Given the description of an element on the screen output the (x, y) to click on. 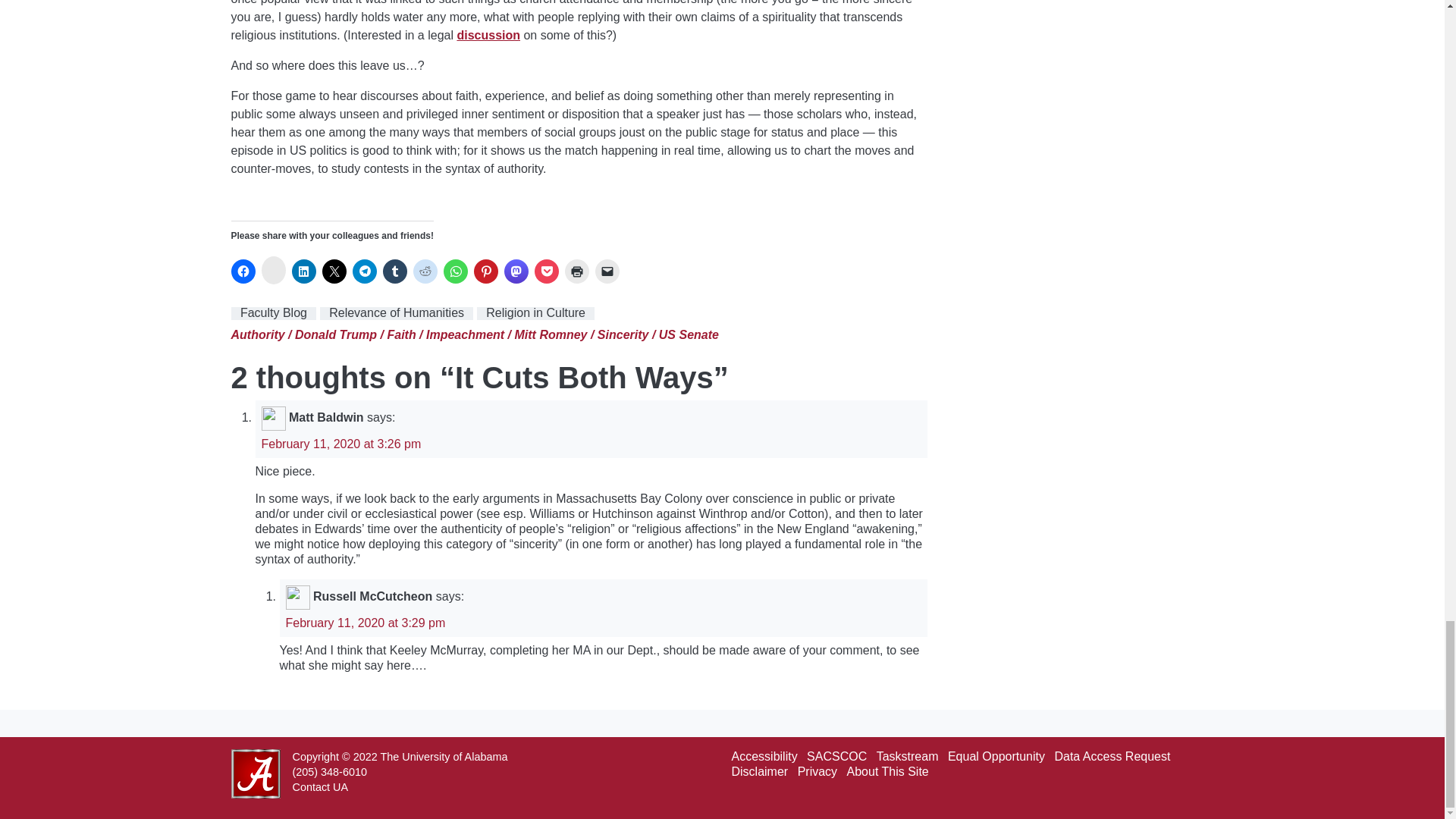
Click to share on Facebook (242, 271)
Click to share on Telegram (363, 271)
Click to share on X (333, 271)
discussion (488, 34)
Click to share on LinkedIn (303, 271)
